Given the description of an element on the screen output the (x, y) to click on. 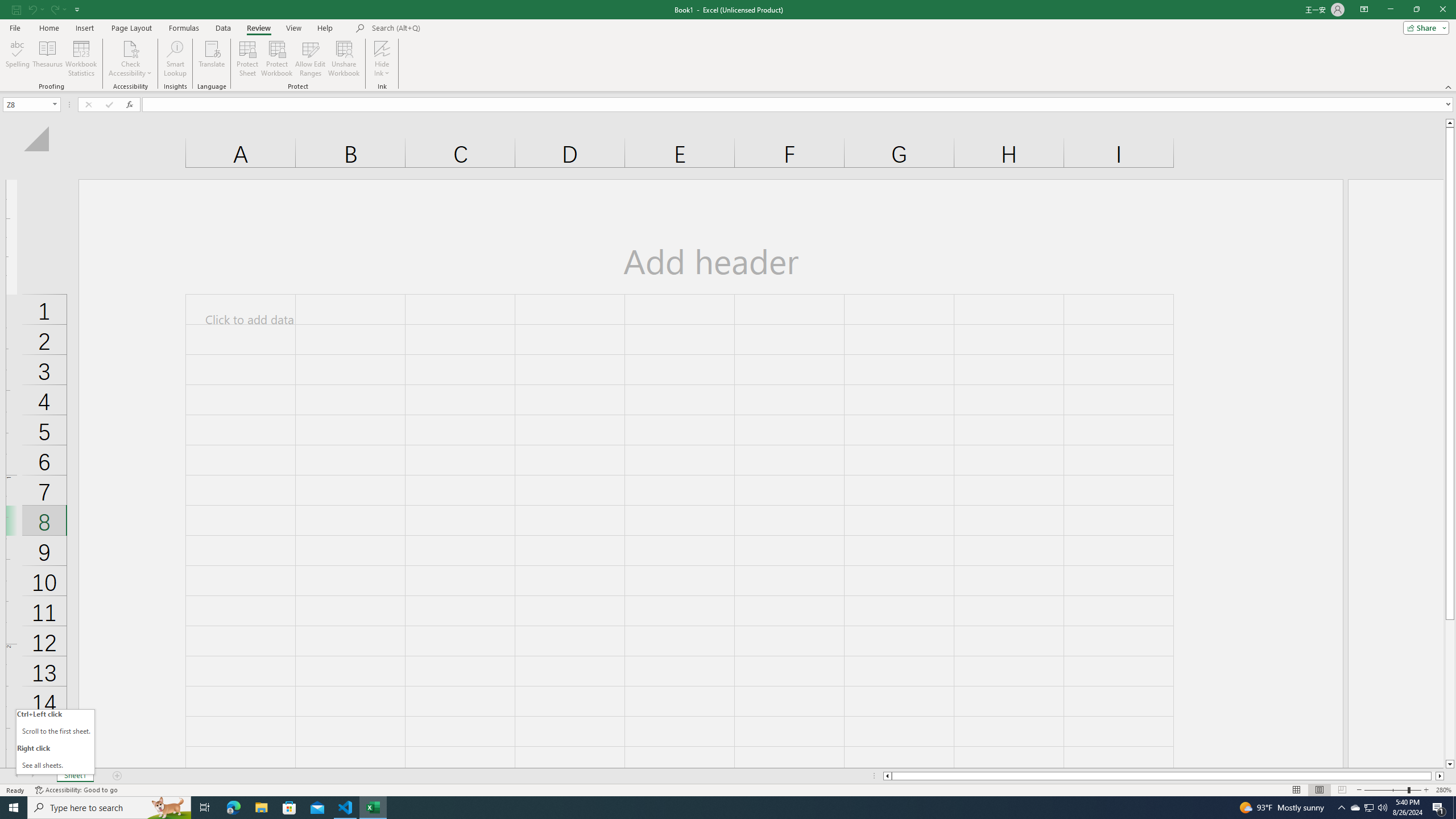
Column left (886, 775)
Thesaurus... (47, 58)
Quick Access Toolbar (46, 9)
Zoom (1392, 790)
Accessibility Checker Accessibility: Good to go (76, 790)
Scroll Left (16, 775)
Protect Sheet... (247, 58)
Ribbon Display Options (1364, 9)
Home (48, 28)
Hide Ink (381, 58)
Insert (83, 28)
Page Layout (1318, 790)
Smart Lookup (175, 58)
Normal (1296, 790)
